Given the description of an element on the screen output the (x, y) to click on. 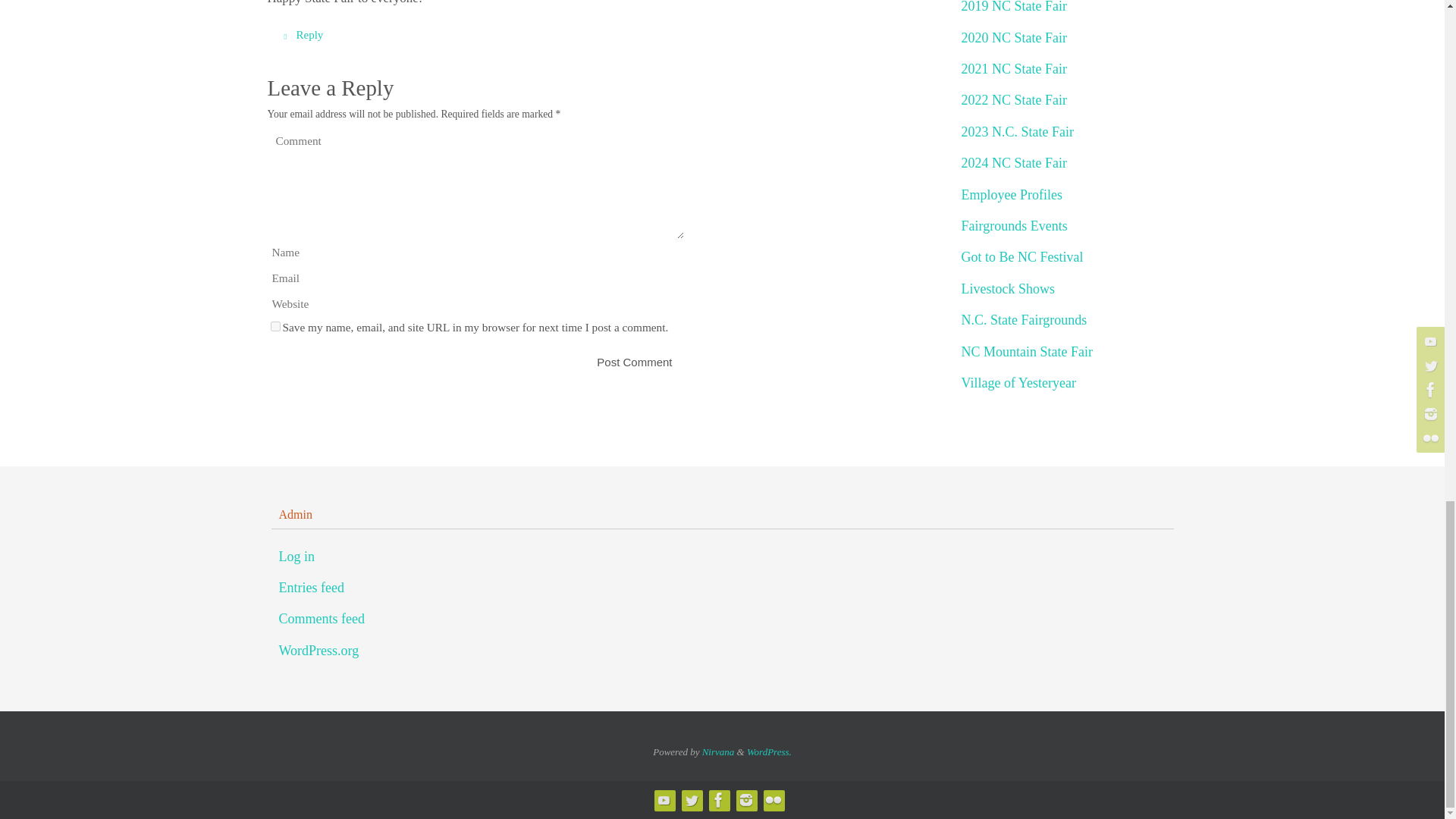
Post Comment (634, 361)
Reply (300, 34)
Post Comment (634, 361)
yes (274, 326)
